Given the description of an element on the screen output the (x, y) to click on. 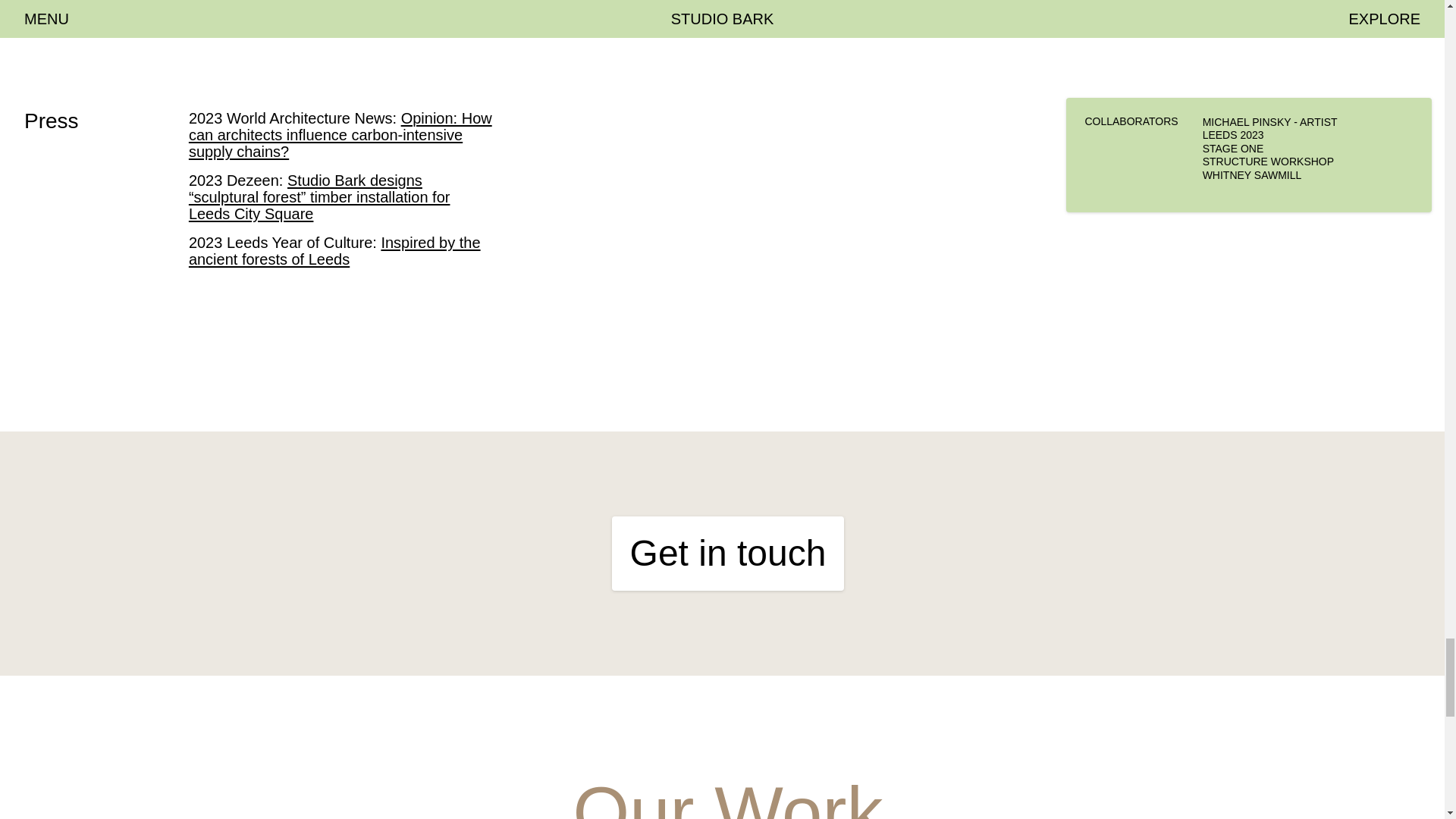
Inspired by the ancient forests of Leeds (334, 250)
Get in touch (727, 553)
